Given the description of an element on the screen output the (x, y) to click on. 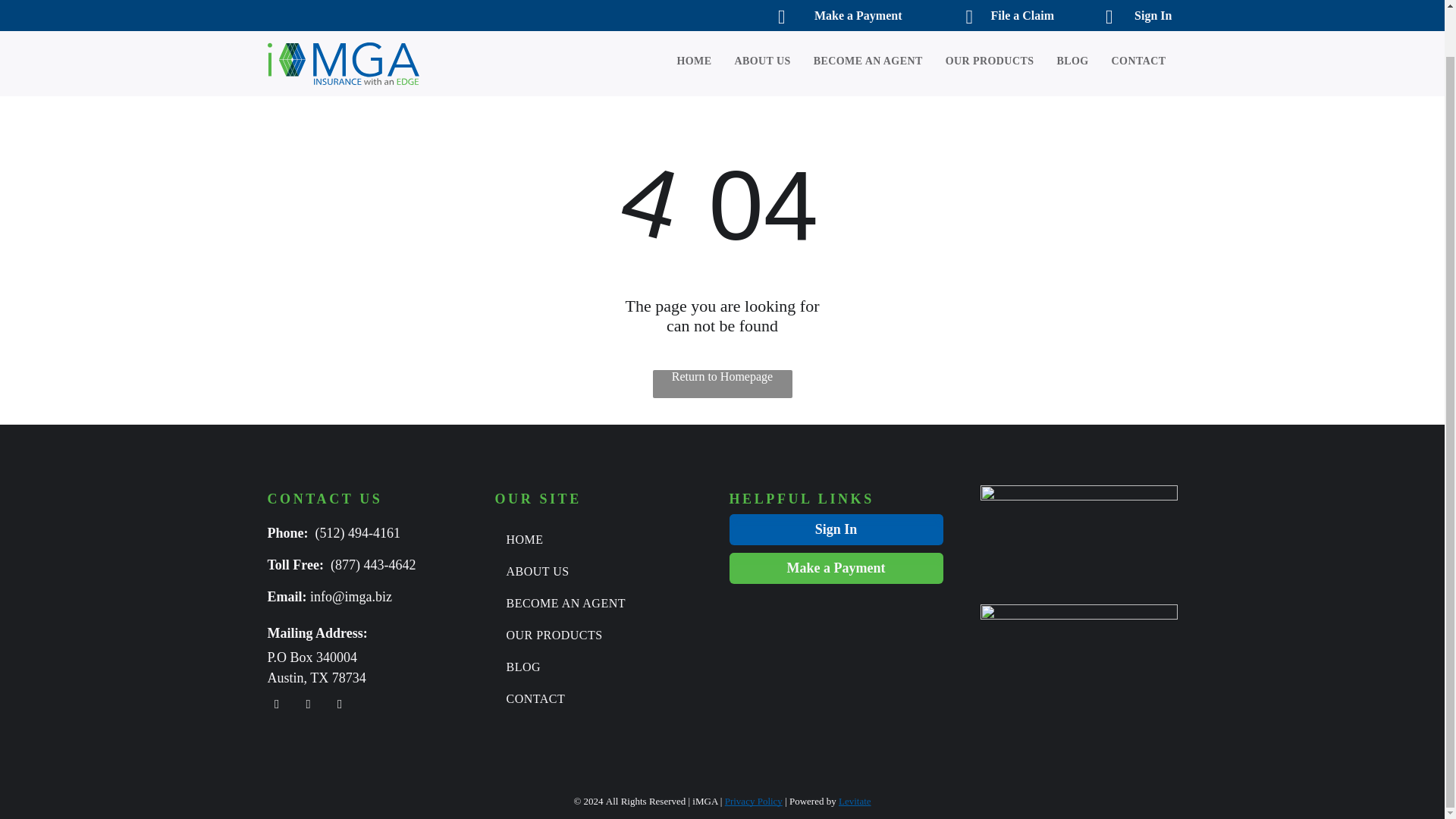
OUR PRODUCTS (596, 635)
Return to Homepage (722, 384)
ABOUT US (750, 11)
CONTACT (596, 698)
BLOG (596, 667)
OUR PRODUCTS (978, 11)
HOME (682, 11)
CONTACT (1127, 11)
HOME (596, 540)
Sign In (836, 529)
